Given the description of an element on the screen output the (x, y) to click on. 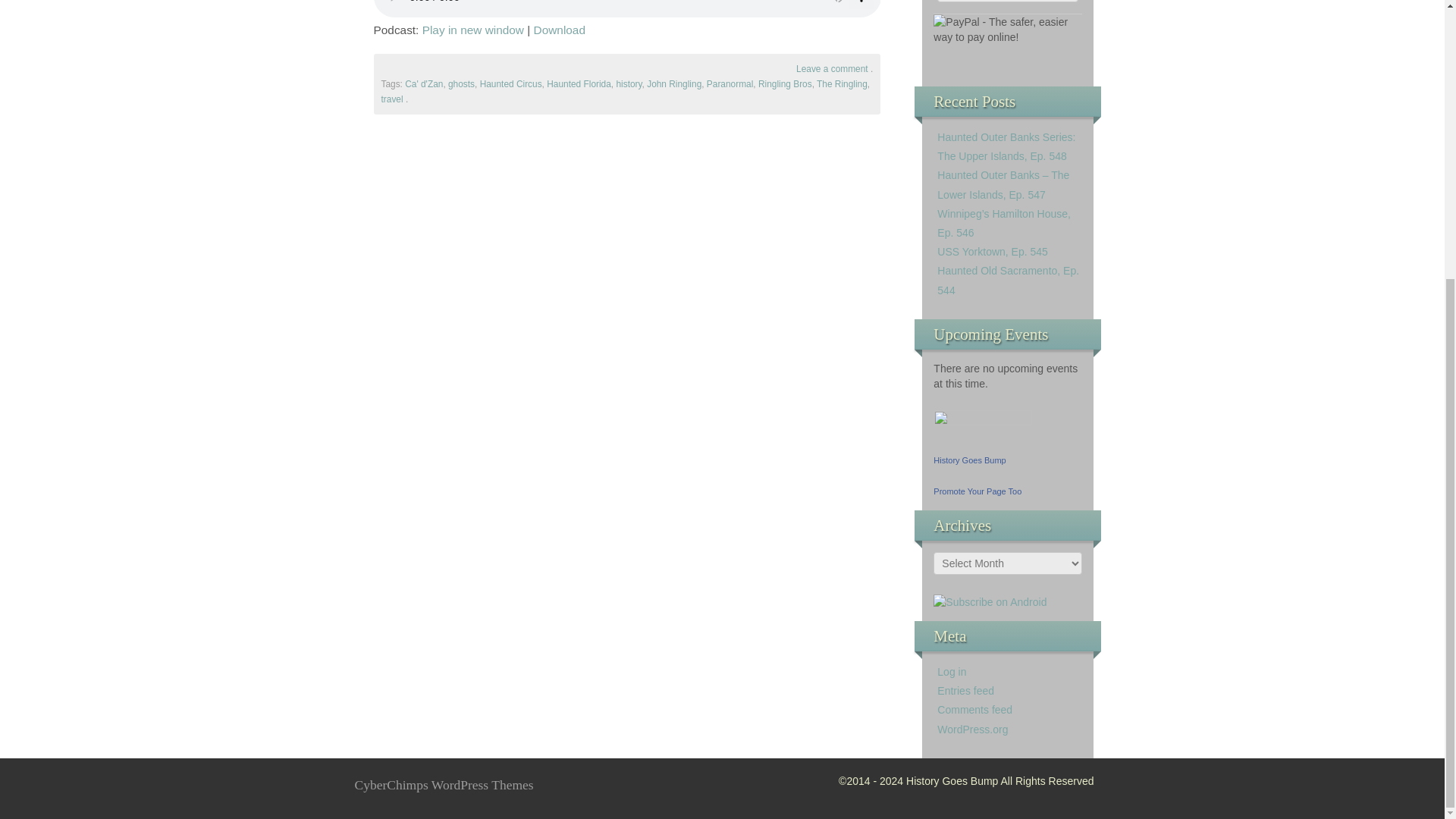
Ca' d'Zan (423, 83)
history (628, 83)
Haunted Old Sacramento, Ep. 544 (1007, 279)
Leave a comment (831, 68)
ghosts (461, 83)
Play in new window (473, 29)
John Ringling (673, 83)
Haunted Florida (579, 83)
travel (391, 99)
History Goes Bump (969, 460)
Haunted Circus (510, 83)
Download (559, 29)
Paranormal (729, 83)
Haunted Outer Banks Series: The Upper Islands, Ep. 548 (1006, 146)
Download (559, 29)
